Given the description of an element on the screen output the (x, y) to click on. 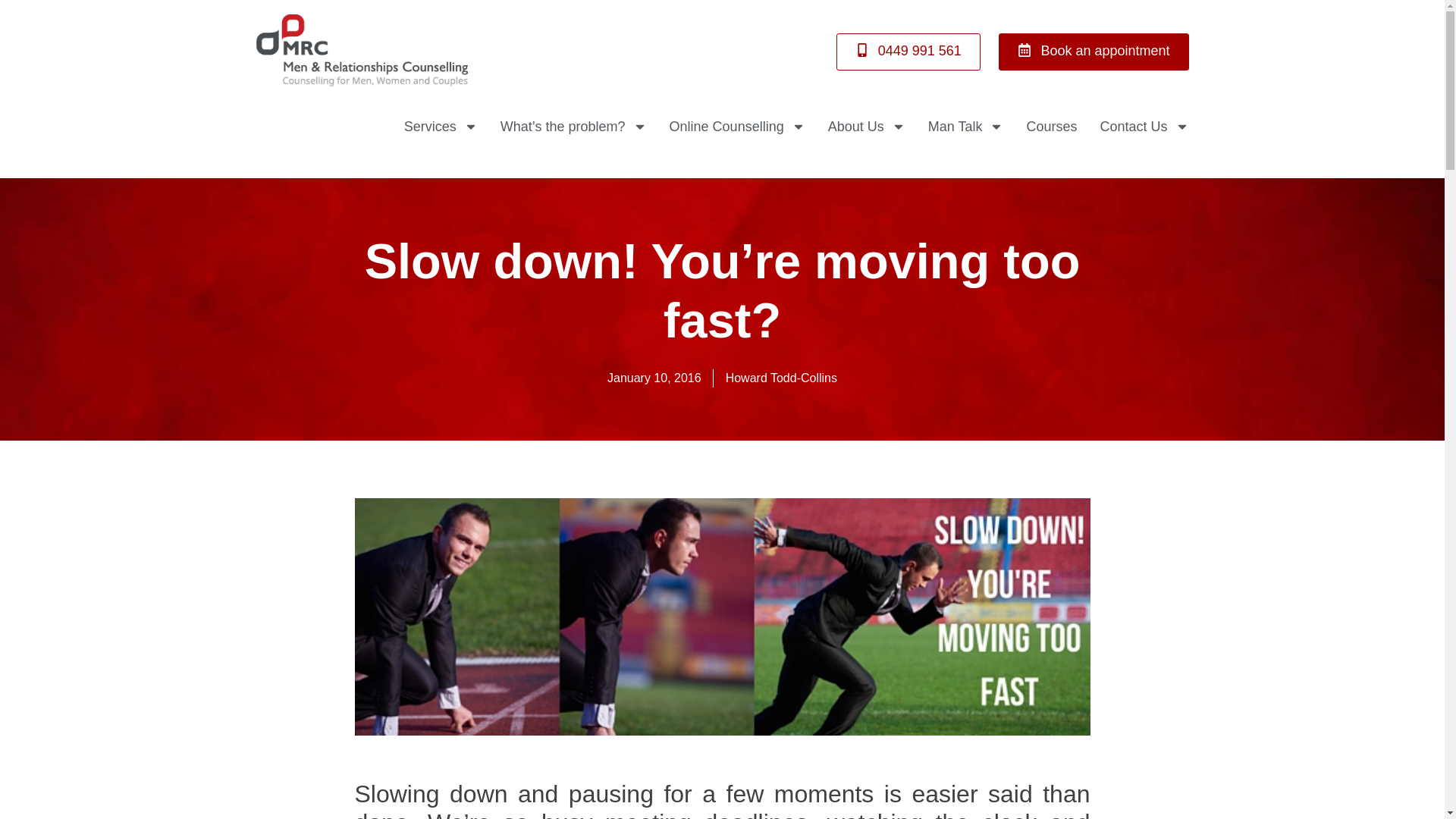
0449 991 561 (907, 52)
Man Talk (966, 127)
Contact Us (1143, 127)
Services (440, 127)
Courses (1051, 127)
Book an appointment (1093, 52)
Online Counselling (737, 127)
About Us (866, 127)
